Given the description of an element on the screen output the (x, y) to click on. 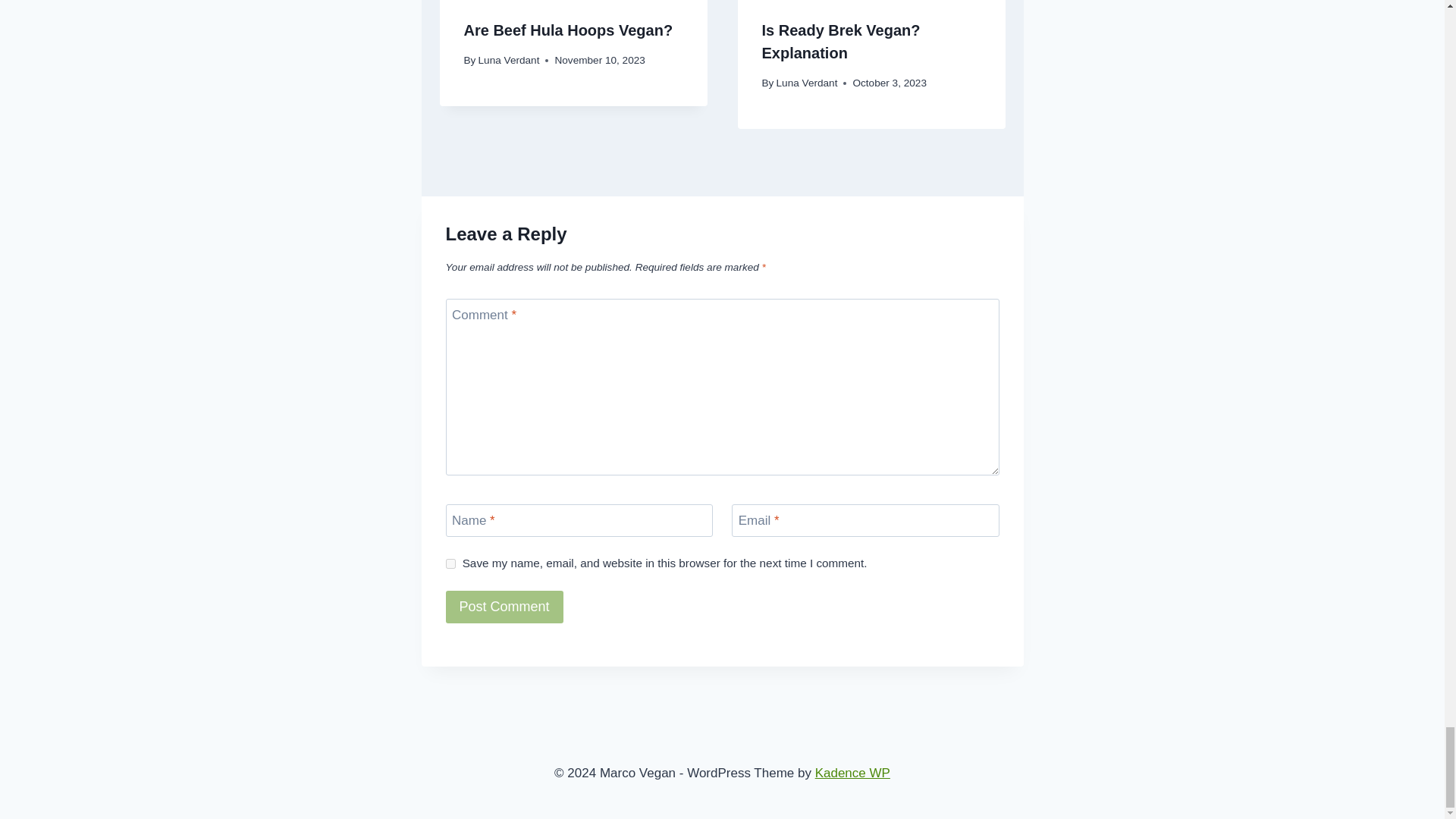
yes (450, 563)
Post Comment (504, 606)
